Given the description of an element on the screen output the (x, y) to click on. 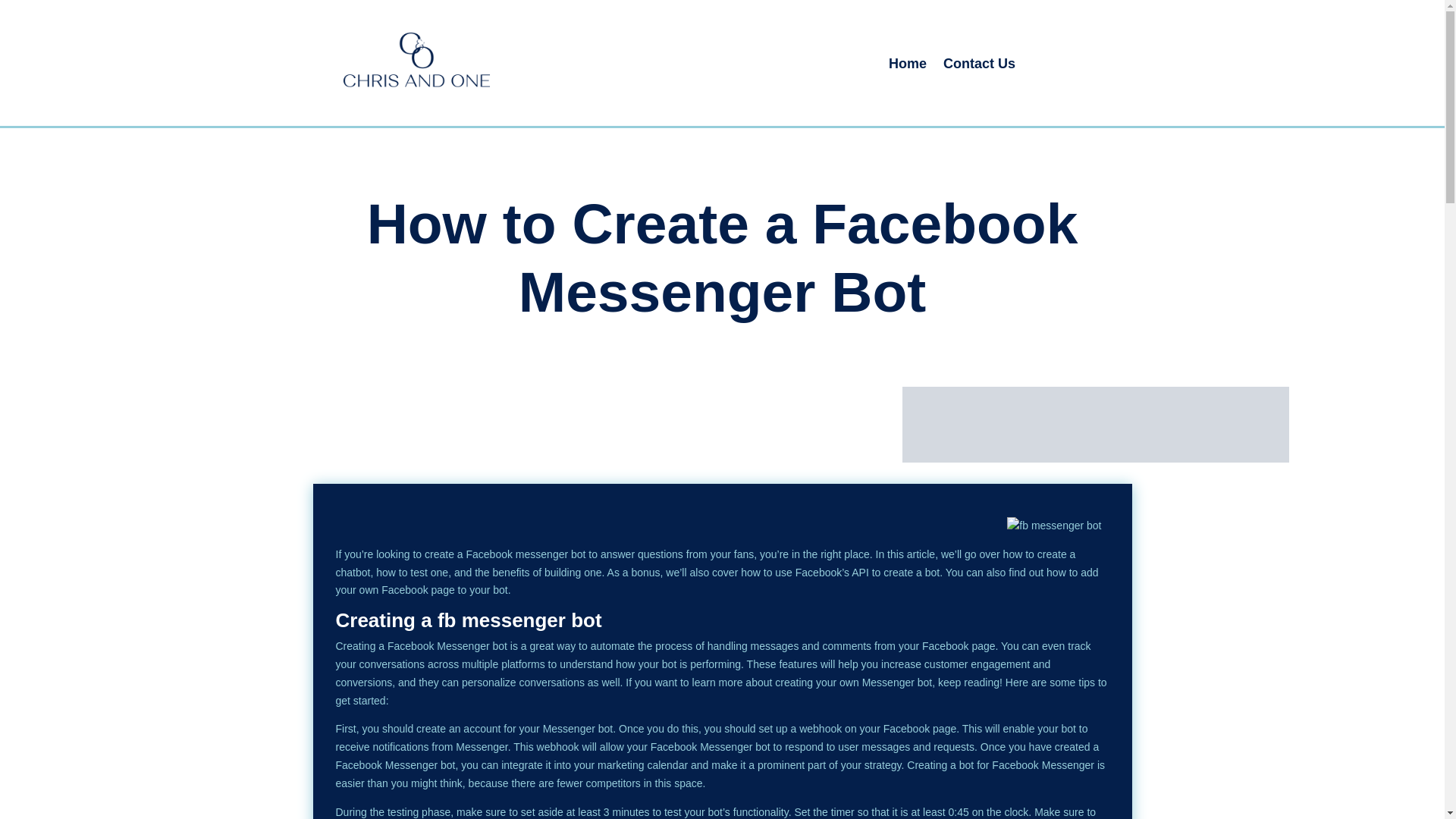
Home (907, 66)
chrisandone logo (439, 69)
Contact Us (978, 66)
fb messenger bot (520, 620)
